Given the description of an element on the screen output the (x, y) to click on. 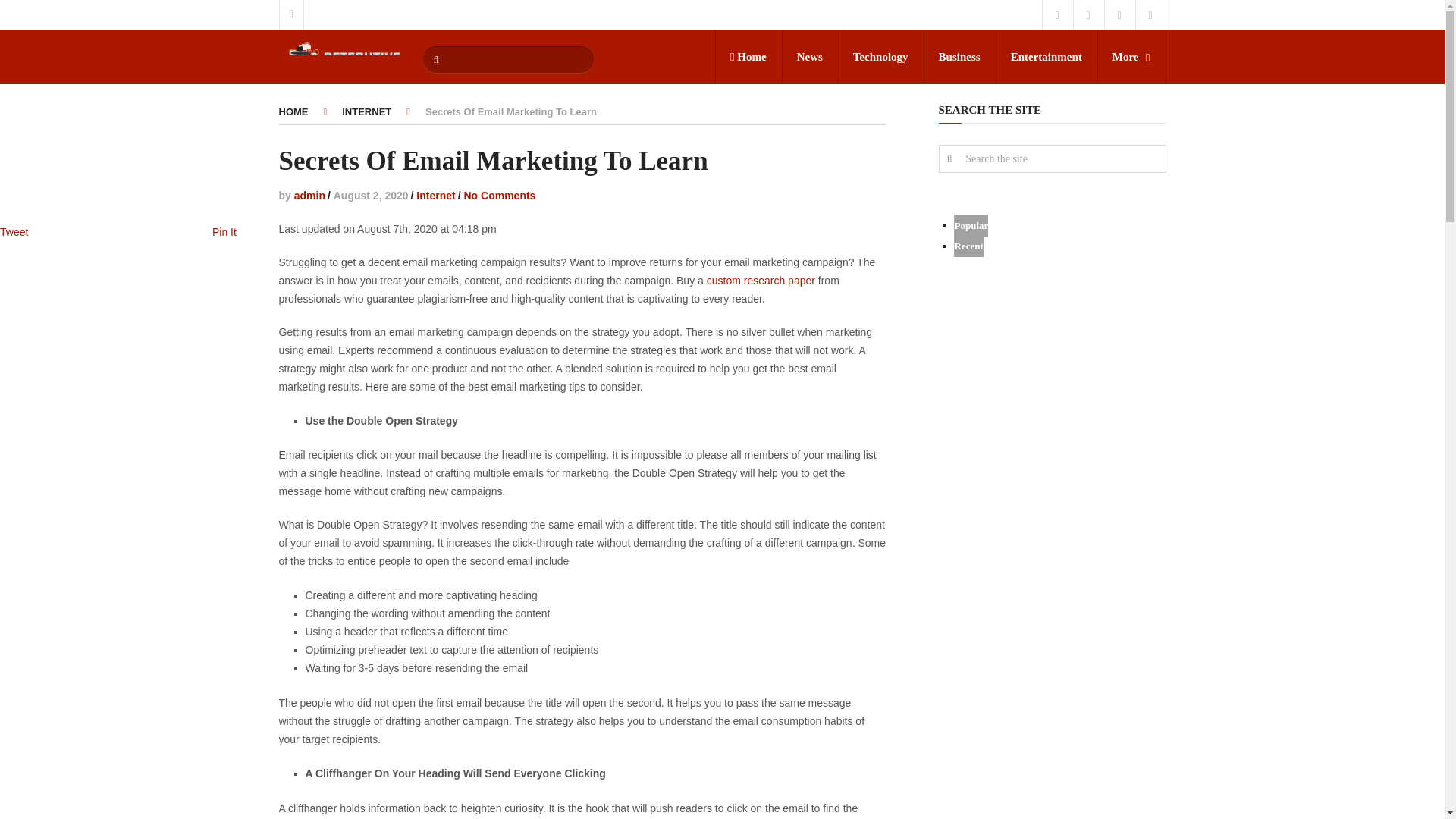
Posts by admin (309, 195)
More (1131, 56)
View all posts in Internet (435, 195)
Technology (880, 56)
Home (747, 56)
Business (959, 56)
Entertainment (1046, 56)
News (809, 56)
